Given the description of an element on the screen output the (x, y) to click on. 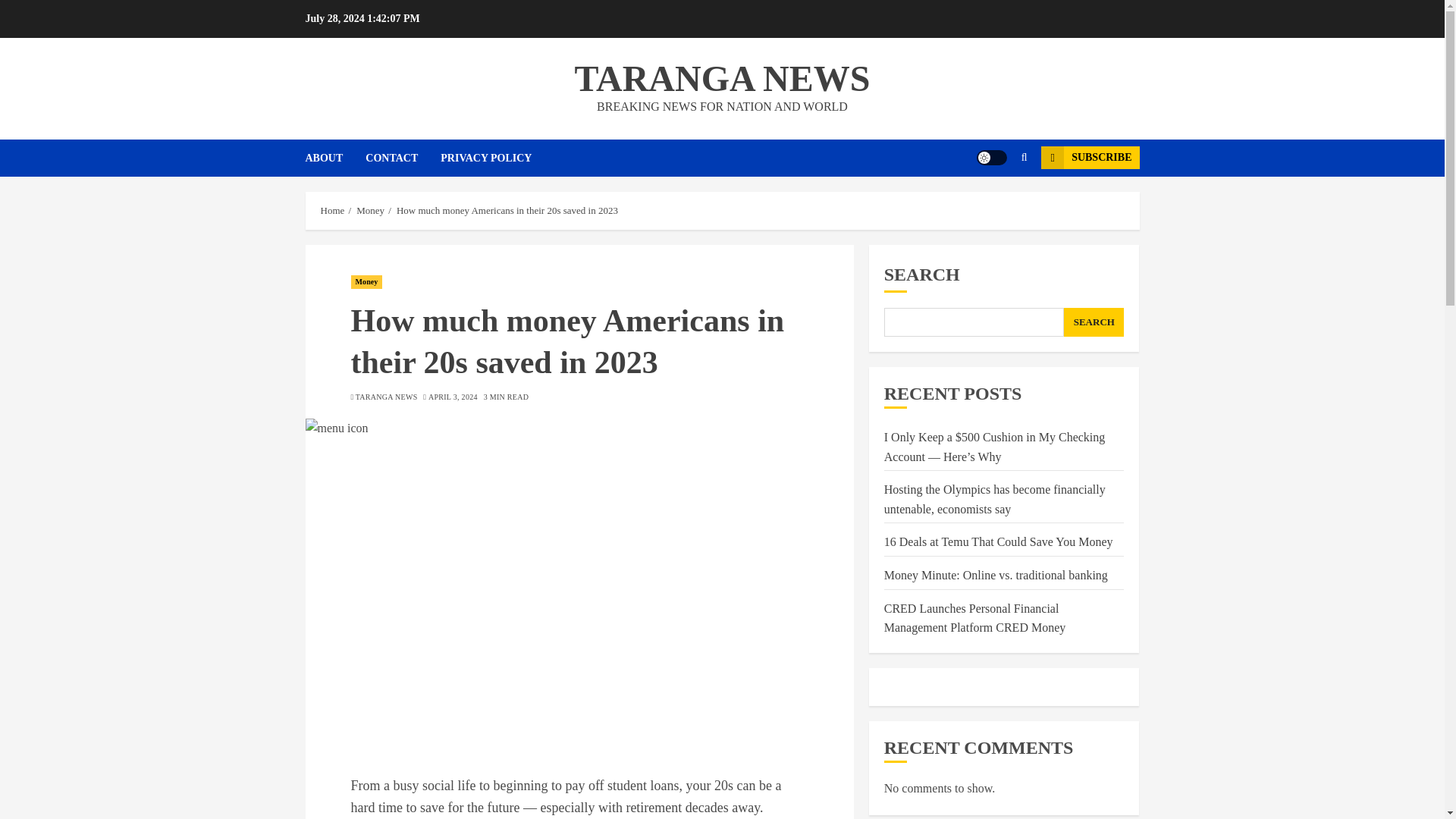
16 Deals at Temu That Could Save You Money (998, 541)
Home (331, 210)
SEARCH (1094, 321)
Money Minute: Online vs. traditional banking (995, 575)
Money (370, 210)
CONTACT (403, 157)
APRIL 3, 2024 (452, 397)
TARANGA NEWS (386, 397)
PRIVACY POLICY (486, 157)
ABOUT (334, 157)
How much money Americans in their 20s saved in 2023 (506, 210)
Money (365, 282)
Search (994, 203)
